Given the description of an element on the screen output the (x, y) to click on. 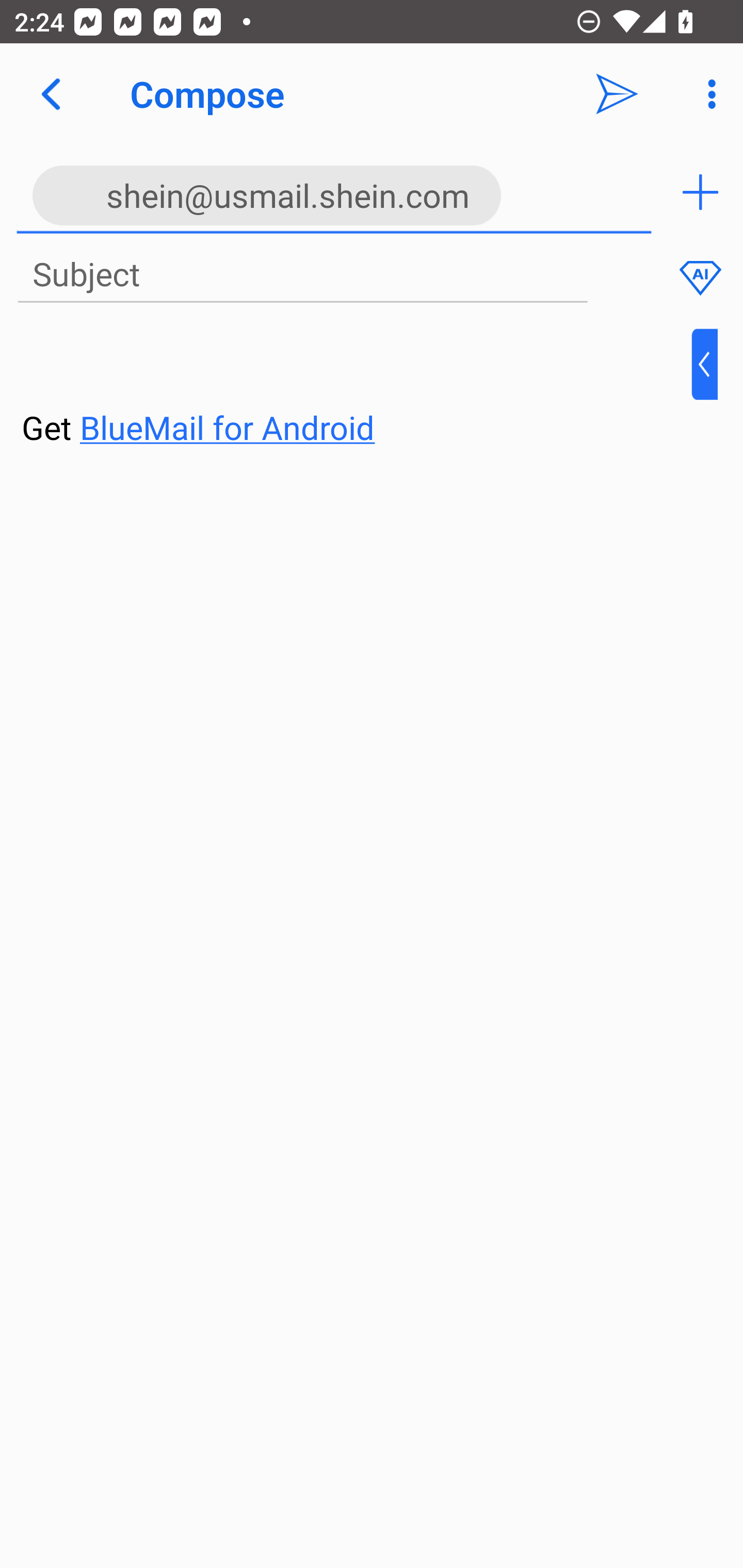
Navigate up (50, 93)
Send (616, 93)
More Options (706, 93)
<shein@usmail.shein.com>,  (334, 191)
Add recipient (To) (699, 191)
Subject (302, 274)


⁣Get BlueMail for Android ​ (355, 390)
